Given the description of an element on the screen output the (x, y) to click on. 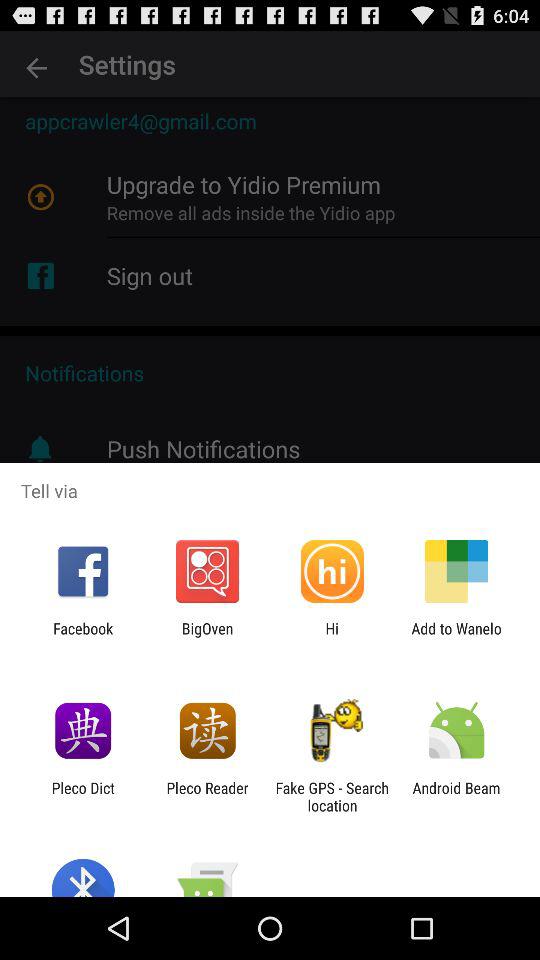
turn off item next to the bigoven icon (331, 637)
